Given the description of an element on the screen output the (x, y) to click on. 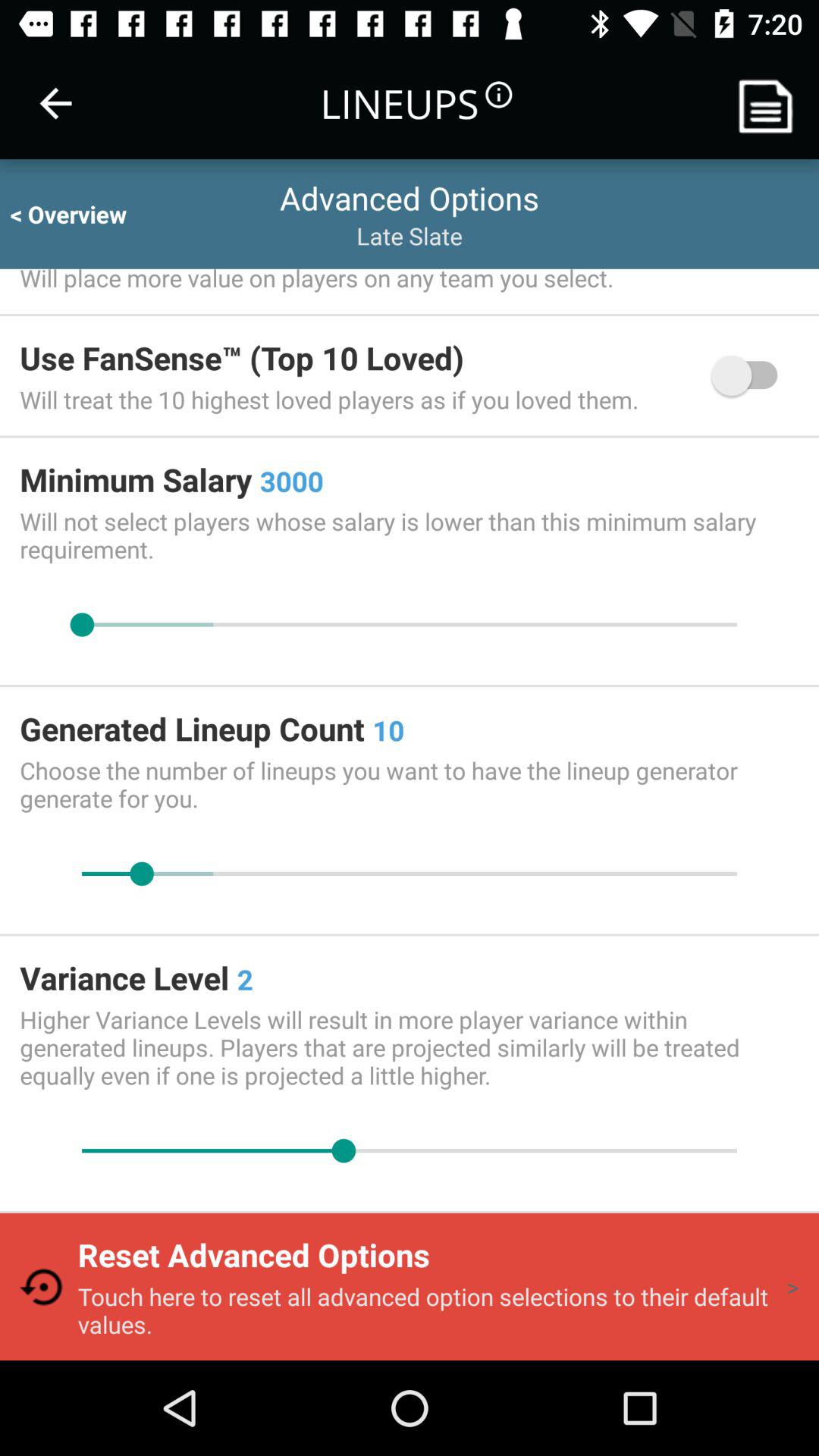
usefansense button (751, 375)
